Given the description of an element on the screen output the (x, y) to click on. 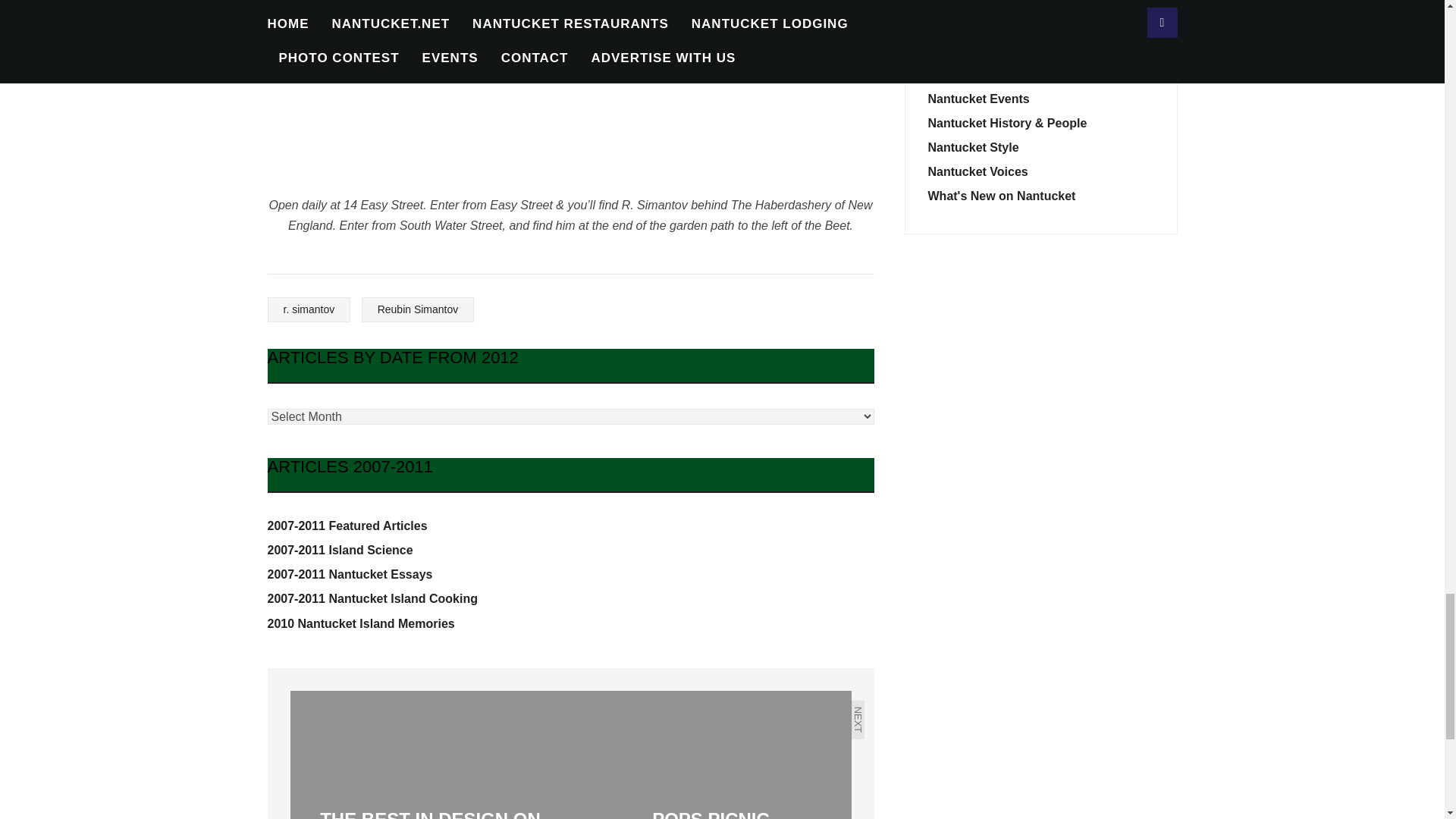
r. simantov (308, 309)
Pops Picnic Sensations (710, 755)
POPS PICNIC SENSATIONS (710, 755)
2007-2011 Island Science (339, 549)
The Best in Design on Nantucket (429, 755)
2007-2011 Featured Articles (346, 525)
Reubin Simantov (417, 309)
2007-2011 Nantucket Island Cooking (371, 598)
2007-2011 Nantucket Essays (349, 574)
THE BEST IN DESIGN ON NANTUCKET (429, 755)
2010 Nantucket Island Memories (360, 623)
